Given the description of an element on the screen output the (x, y) to click on. 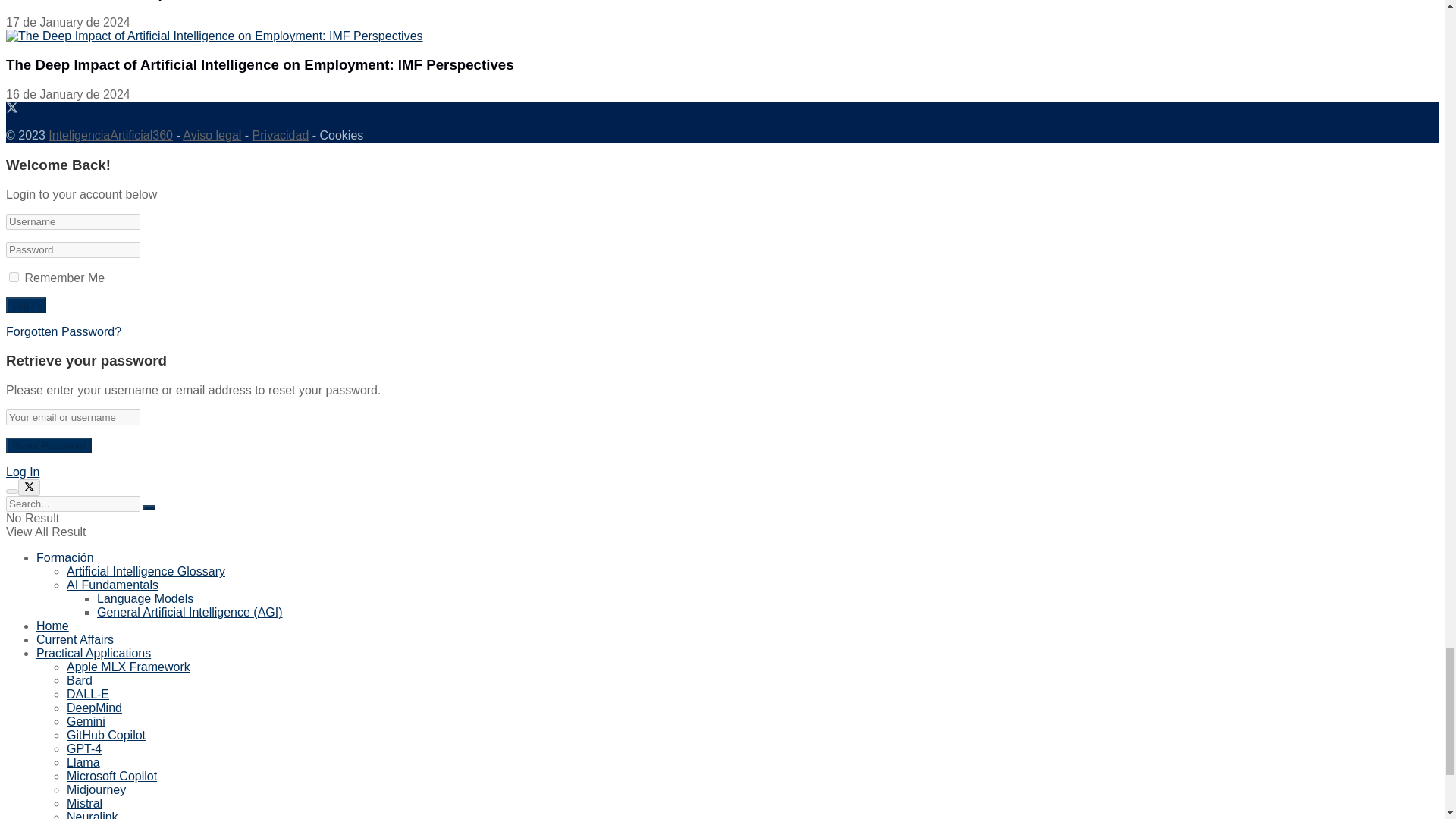
Inteligencia Artificial 360 (110, 134)
Reset Password (48, 445)
Log In (25, 304)
true (13, 276)
